Given the description of an element on the screen output the (x, y) to click on. 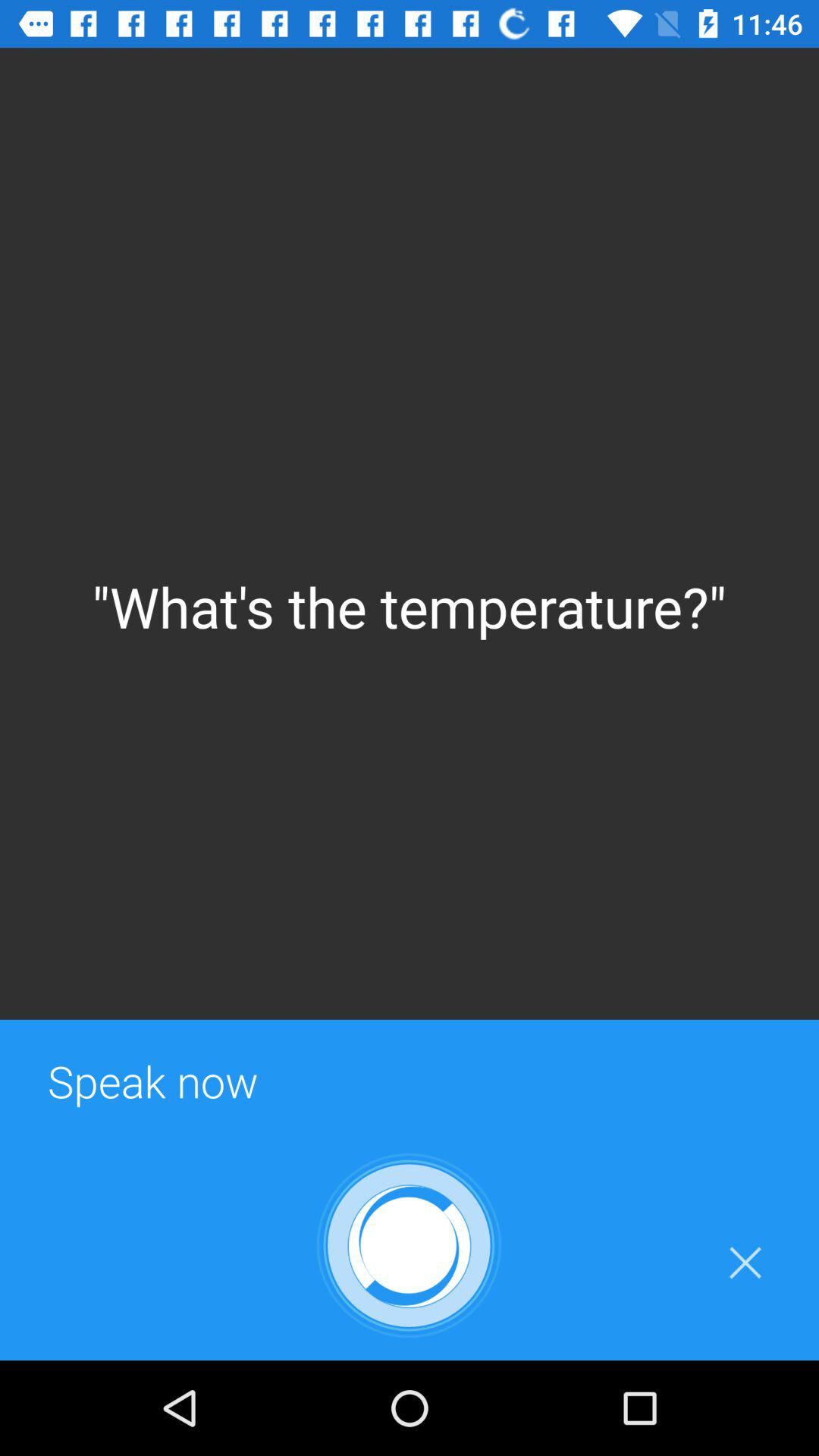
choose the item below the speak now item (409, 1245)
